Given the description of an element on the screen output the (x, y) to click on. 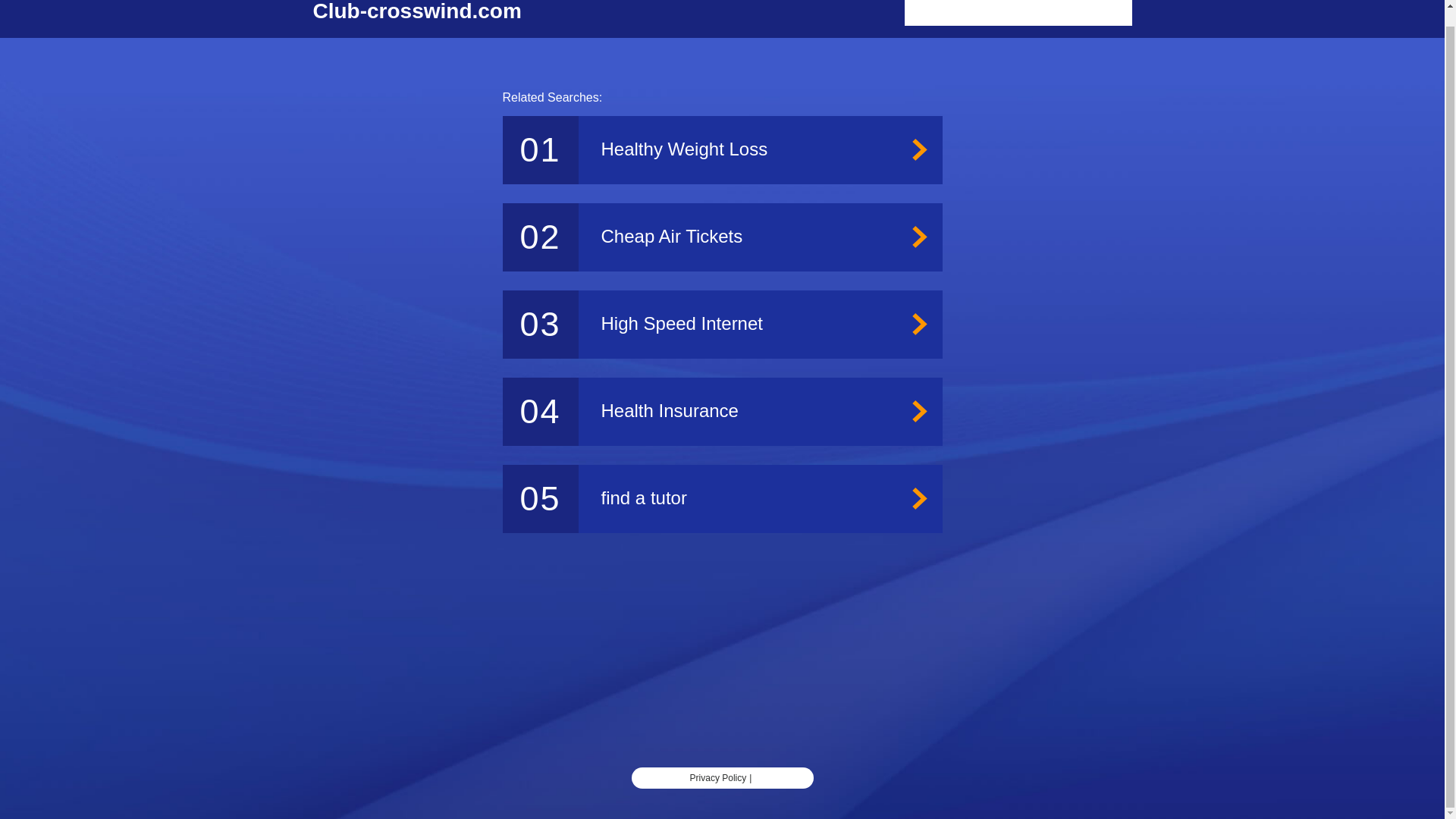
Health Insurance (722, 411)
find a tutor (722, 499)
find a tutor (722, 499)
High Speed Internet (722, 324)
High Speed Internet (722, 324)
Cheap Air Tickets (722, 237)
Health Insurance (722, 411)
Club-crosswind.com (417, 11)
Healthy Weight Loss (722, 150)
Cheap Air Tickets (722, 237)
